Given the description of an element on the screen output the (x, y) to click on. 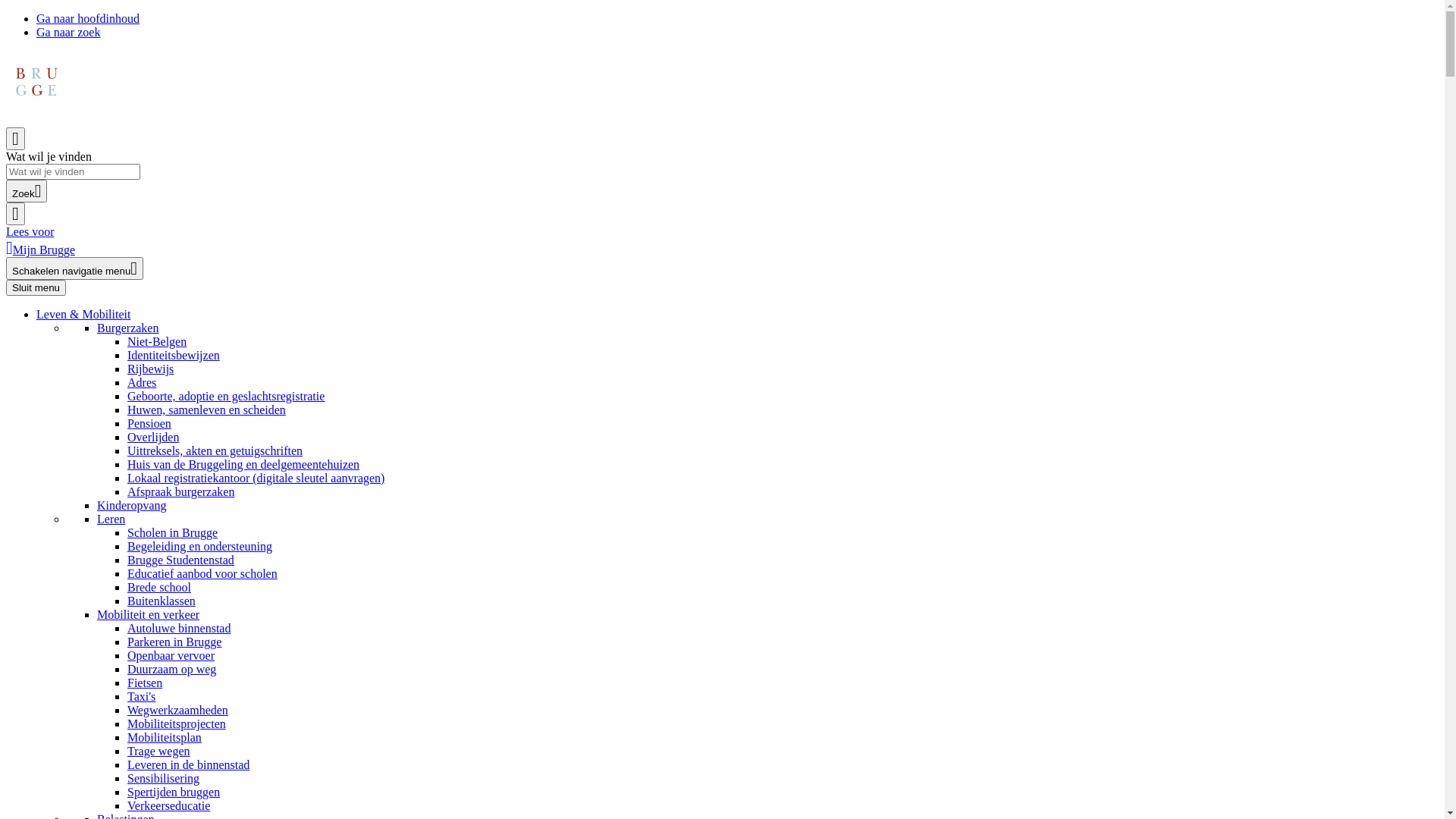
Autoluwe binnenstad Element type: text (178, 627)
Overlijden Element type: text (152, 436)
Pensioen Element type: text (149, 423)
Mobiliteit en verkeer Element type: text (148, 614)
Huis van de Bruggeling en deelgemeentehuizen Element type: text (243, 464)
Taxi's Element type: text (141, 696)
Ga naar de startpagina Element type: hover (36, 107)
Openbaar vervoer Element type: text (170, 655)
Buitenklassen Element type: text (161, 600)
Parkeren in Brugge Element type: text (174, 641)
Kinderopvang Element type: text (131, 504)
Brugge Studentenstad Element type: text (180, 559)
Sluit menu Element type: text (35, 287)
Leveren in de binnenstad Element type: text (188, 764)
Huwen, samenleven en scheiden Element type: text (206, 409)
Trage wegen Element type: text (158, 750)
Mobiliteitsprojecten Element type: text (176, 723)
Educatief aanbod voor scholen Element type: text (202, 573)
Rijbewijs Element type: text (150, 368)
Verkeerseducatie Element type: text (168, 805)
Lees voor Element type: text (30, 231)
Fietsen Element type: text (144, 682)
Uittreksels, akten en getuigschriften Element type: text (214, 450)
Duurzaam op weg Element type: text (171, 668)
Wegwerkzaamheden Element type: text (177, 709)
Sensibilisering Element type: text (163, 777)
Lokaal registratiekantoor (digitale sleutel aanvragen) Element type: text (255, 477)
Spertijden bruggen Element type: text (173, 791)
Brede school Element type: text (159, 586)
Geboorte, adoptie en geslachtsregistratie Element type: text (225, 395)
Leven & Mobiliteit Element type: text (83, 313)
Ga naar zoek Element type: text (68, 31)
Ga naar hoofdinhoud Element type: text (87, 18)
Adres Element type: text (141, 382)
Begeleiding en ondersteuning Element type: text (199, 545)
Scholen in Brugge Element type: text (172, 532)
Identiteitsbewijzen Element type: text (173, 354)
Leren Element type: text (111, 518)
Mobiliteitsplan Element type: text (164, 737)
Burgerzaken Element type: text (127, 327)
Niet-Belgen Element type: text (156, 341)
Afspraak burgerzaken Element type: text (180, 491)
